Given the description of an element on the screen output the (x, y) to click on. 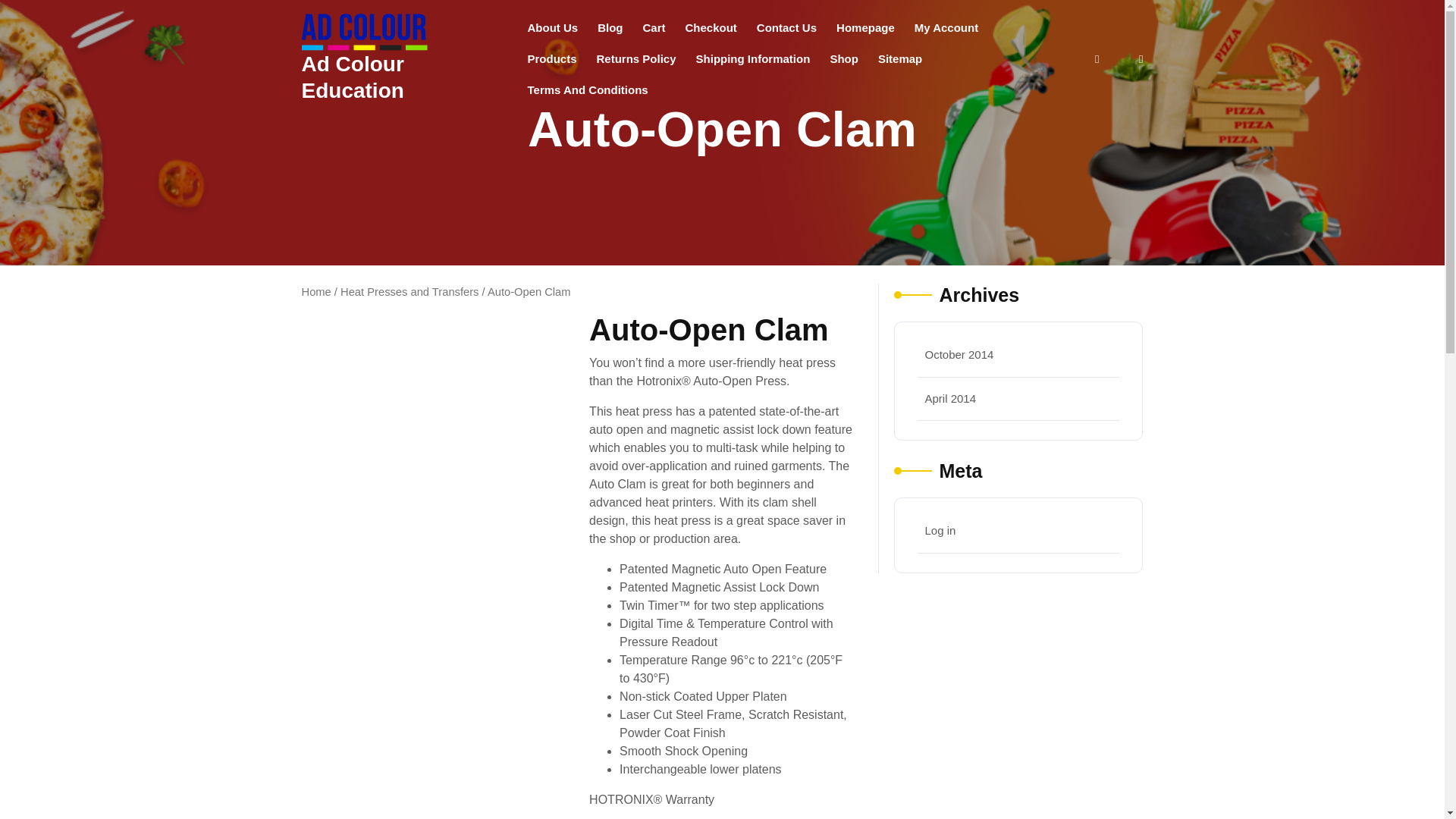
Contact Us (786, 27)
My Account (946, 27)
Terms And Conditions (587, 89)
About Us (552, 27)
Cart (653, 27)
Heat Presses and Transfers (409, 291)
Returns Policy (635, 58)
Shop (843, 58)
Sitemap (899, 58)
Checkout (710, 27)
Blog (609, 27)
Homepage (865, 27)
Products (551, 58)
Home (316, 291)
Ad Colour Education (352, 77)
